Given the description of an element on the screen output the (x, y) to click on. 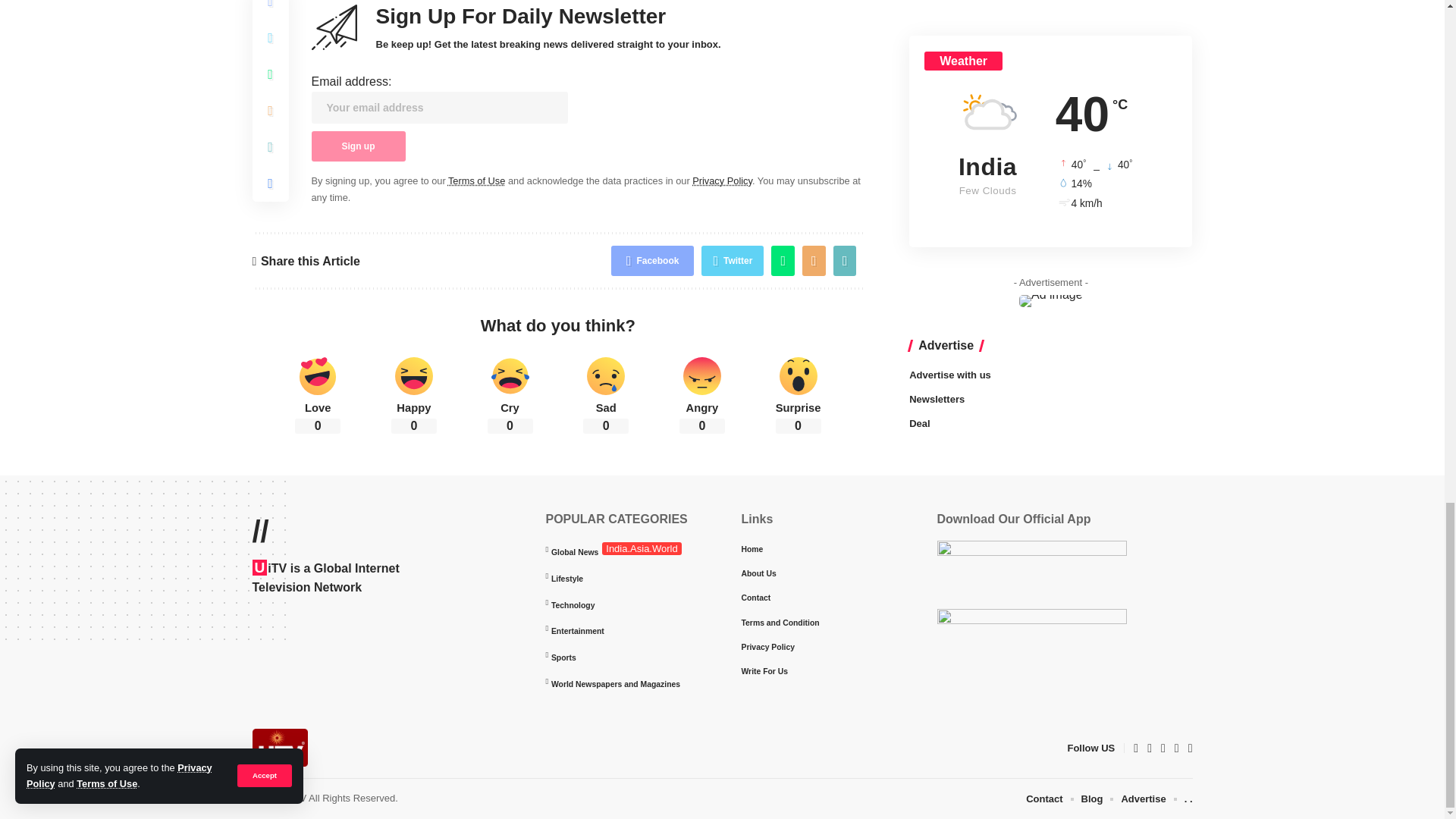
Sign up (357, 146)
